Given the description of an element on the screen output the (x, y) to click on. 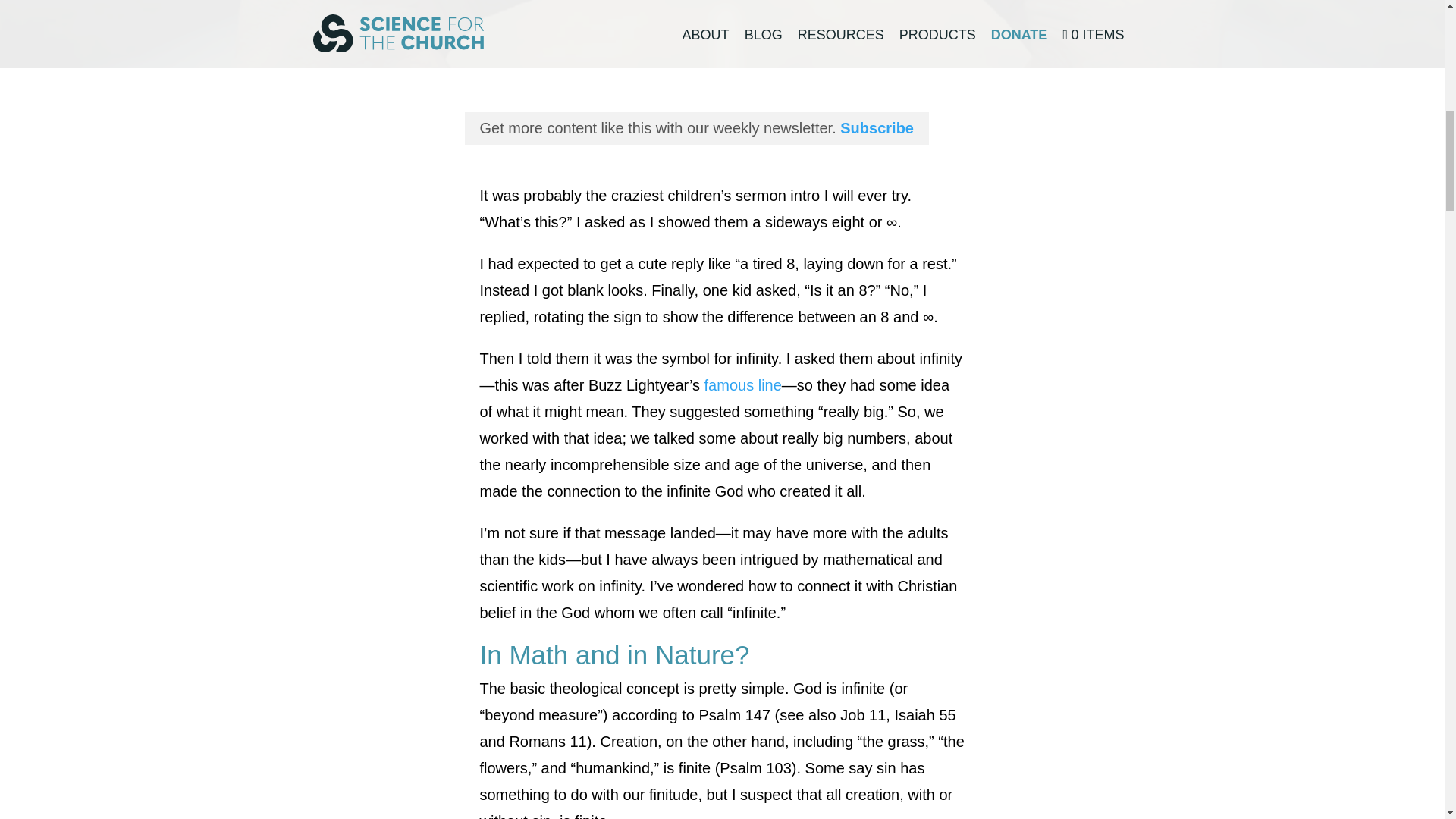
famous line (742, 384)
Subscribe (877, 127)
